Given the description of an element on the screen output the (x, y) to click on. 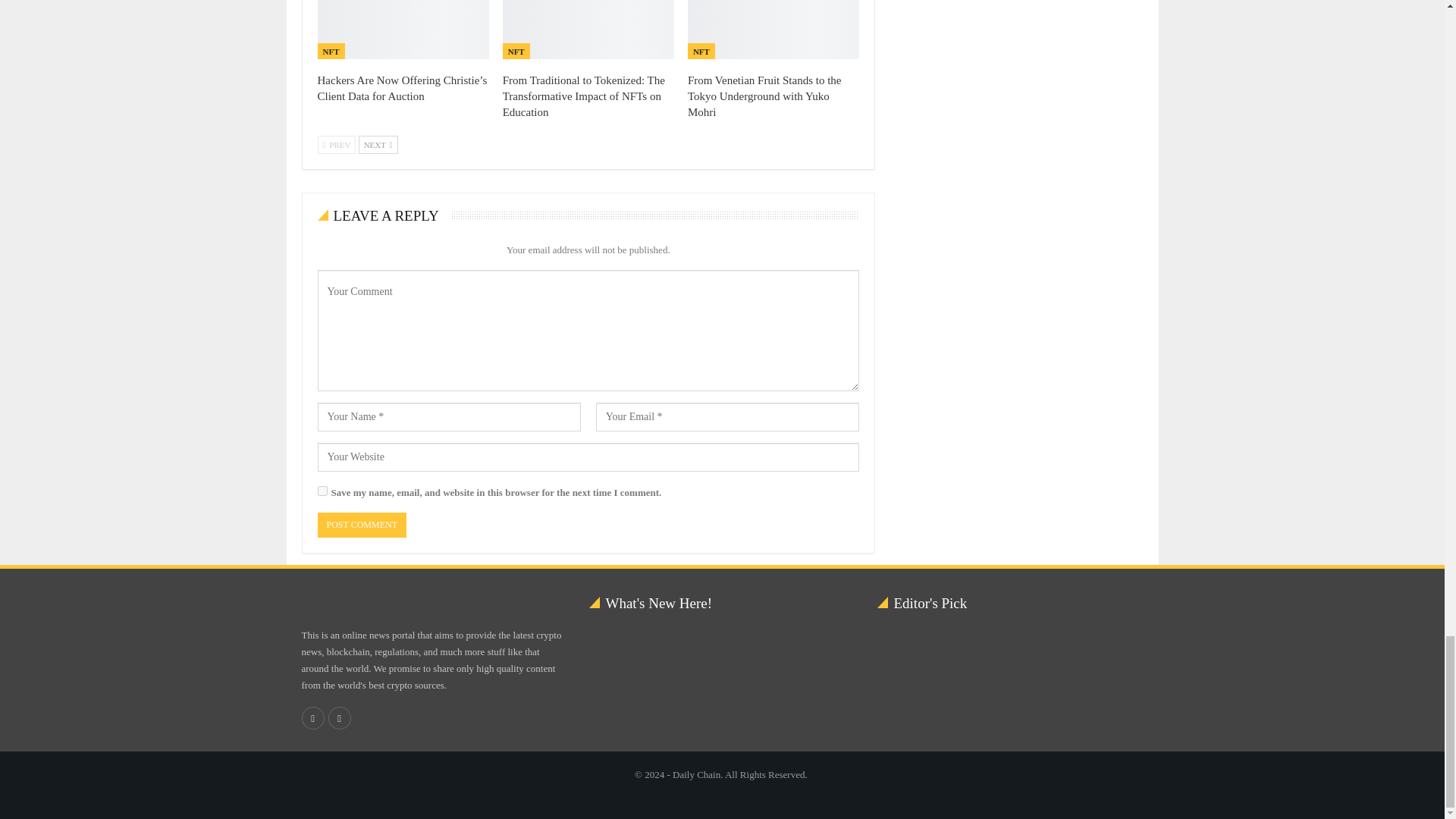
Post Comment (361, 524)
Previous (336, 144)
yes (321, 491)
Next (377, 144)
